Given the description of an element on the screen output the (x, y) to click on. 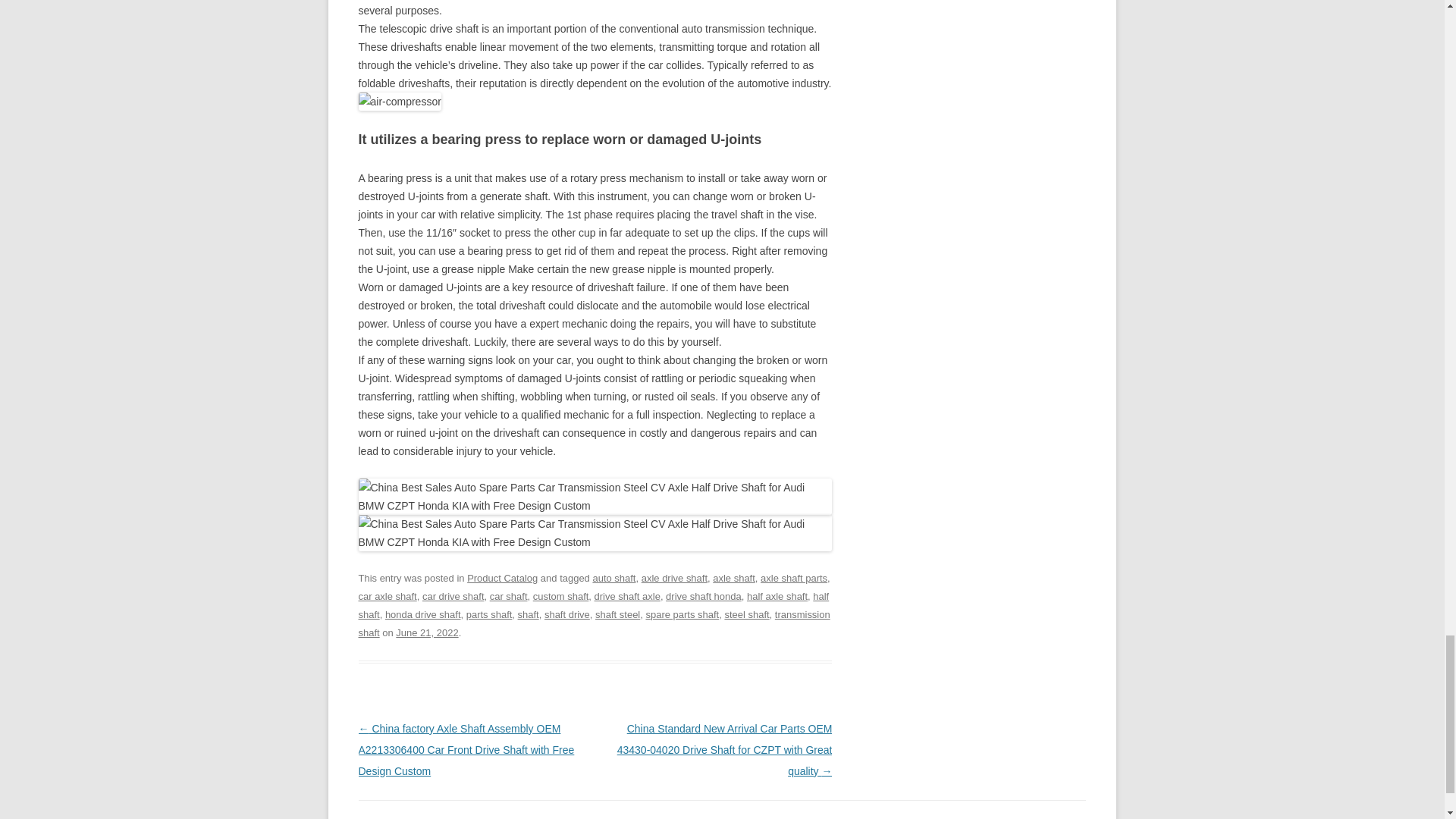
June 21, 2022 (427, 632)
drive shaft honda (703, 595)
axle drive shaft (674, 577)
shaft drive (566, 614)
transmission shaft (593, 623)
half shaft (593, 604)
axle shaft parts (793, 577)
drive shaft axle (627, 595)
car drive shaft (453, 595)
1:05 pm (427, 632)
shaft (528, 614)
steel shaft (745, 614)
half axle shaft (777, 595)
auto shaft (613, 577)
car axle shaft (387, 595)
